Given the description of an element on the screen output the (x, y) to click on. 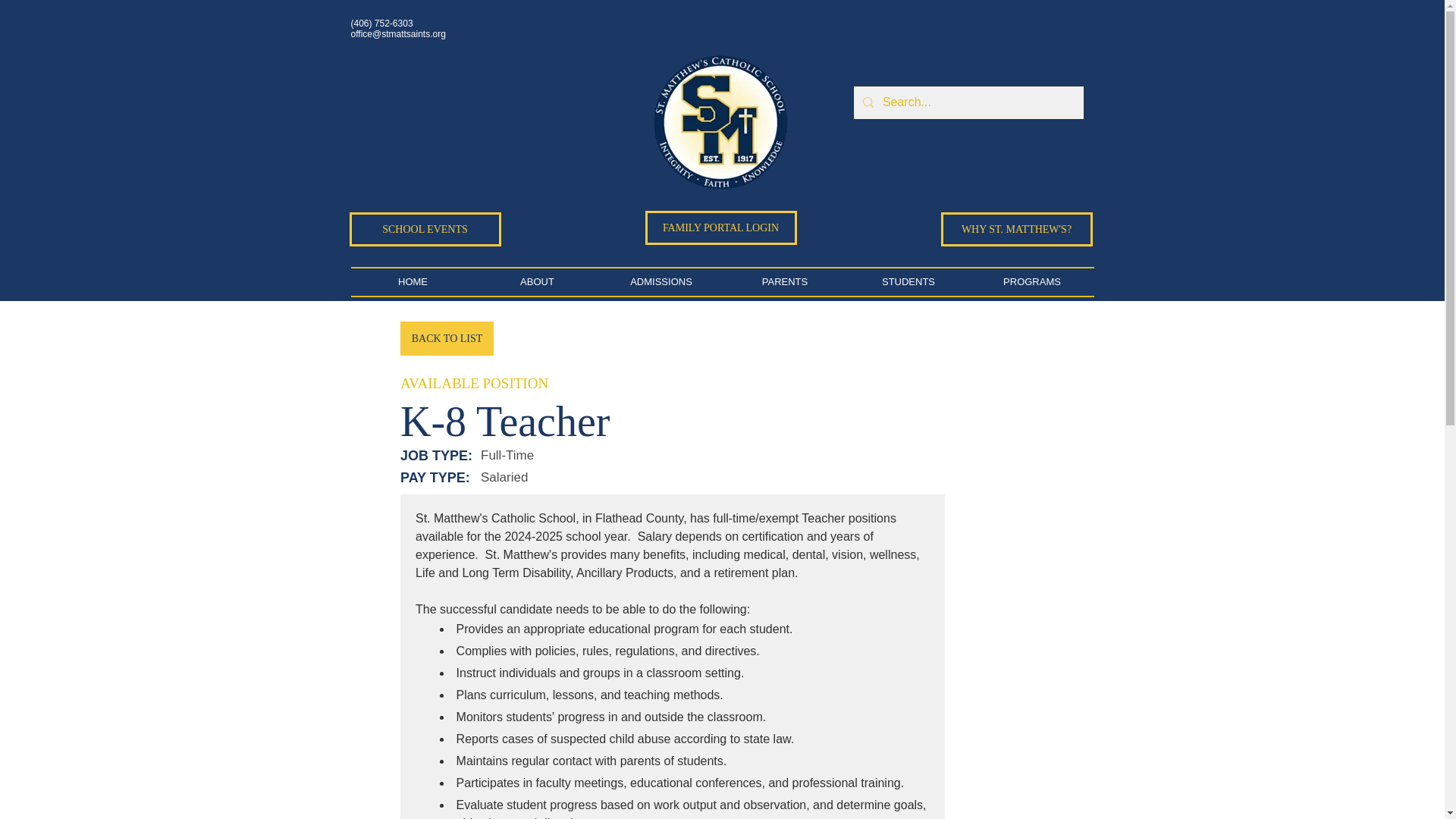
WHY ST. MATTHEW'S? (1016, 229)
HOME (412, 281)
SCHOOL EVENTS (424, 229)
PROGRAMS (1032, 281)
FAMILY PORTAL LOGIN (720, 227)
BACK TO LIST (446, 338)
